Given the description of an element on the screen output the (x, y) to click on. 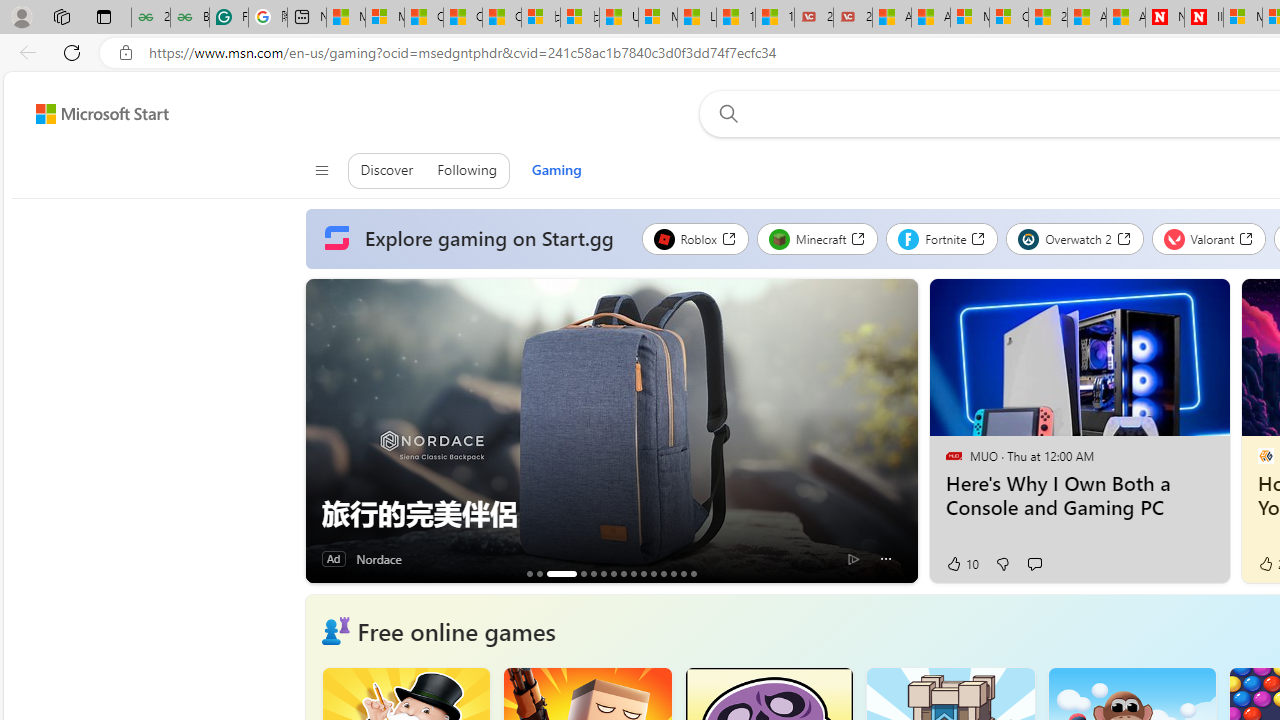
Illness news & latest pictures from Newsweek.com (1203, 17)
Explore gaming on Start.gg (473, 239)
15 Ways Modern Life Contradicts the Teachings of Jesus (774, 17)
Hide this story (1169, 302)
Here's Why I Own Both a Console and Gaming PC (1078, 495)
Previous slide (319, 431)
Cloud Computing Services | Microsoft Azure (1008, 17)
Valorant (1208, 238)
AutomationID: tab_nativead-infopane-11 (653, 573)
Class: control icon-only (320, 170)
